Given the description of an element on the screen output the (x, y) to click on. 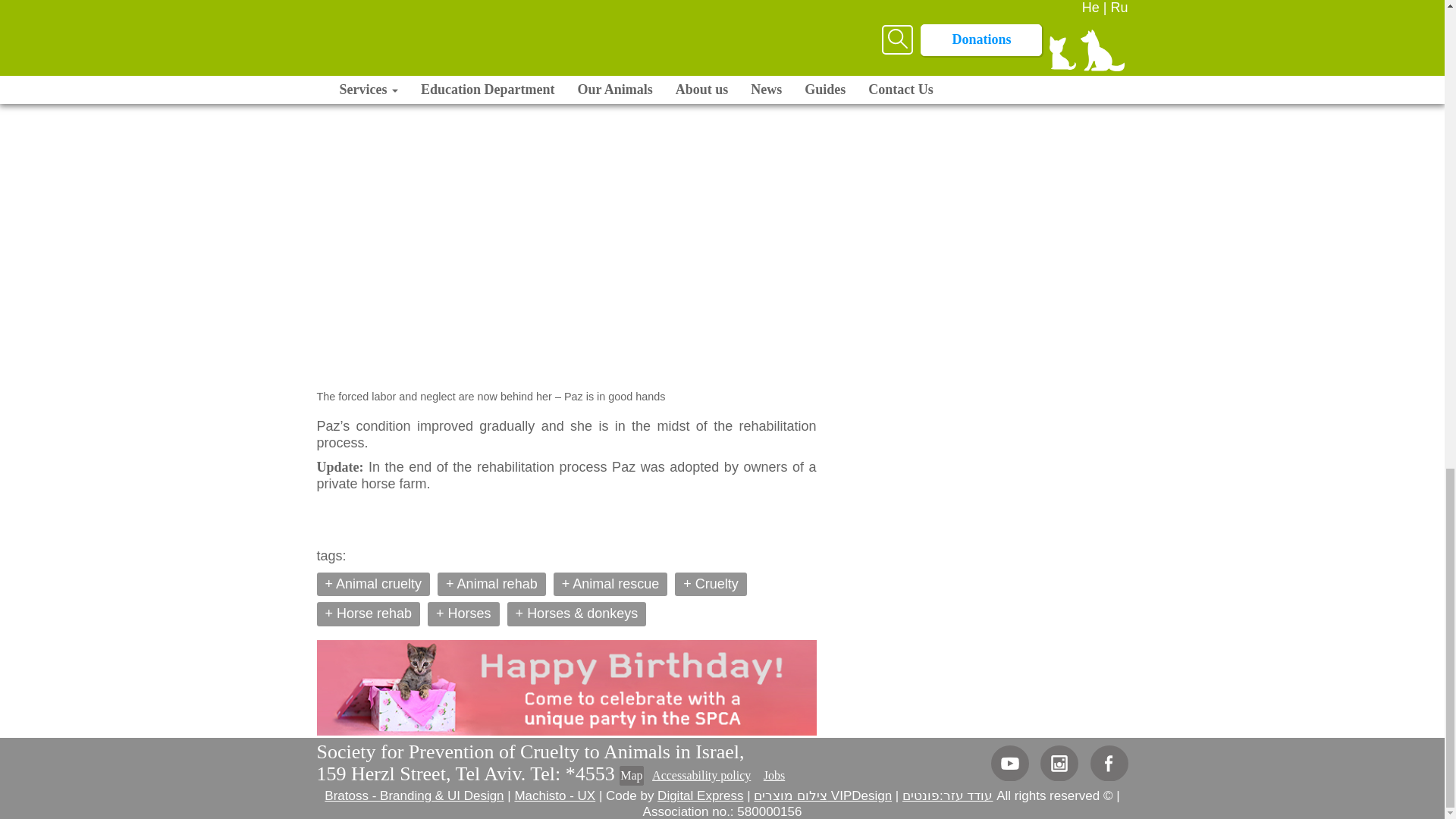
Animal rehab (492, 584)
Horses (463, 613)
Animal rescue (610, 584)
Animal cruelty (373, 584)
Cruelty (710, 584)
Horse rehab (368, 613)
